Given the description of an element on the screen output the (x, y) to click on. 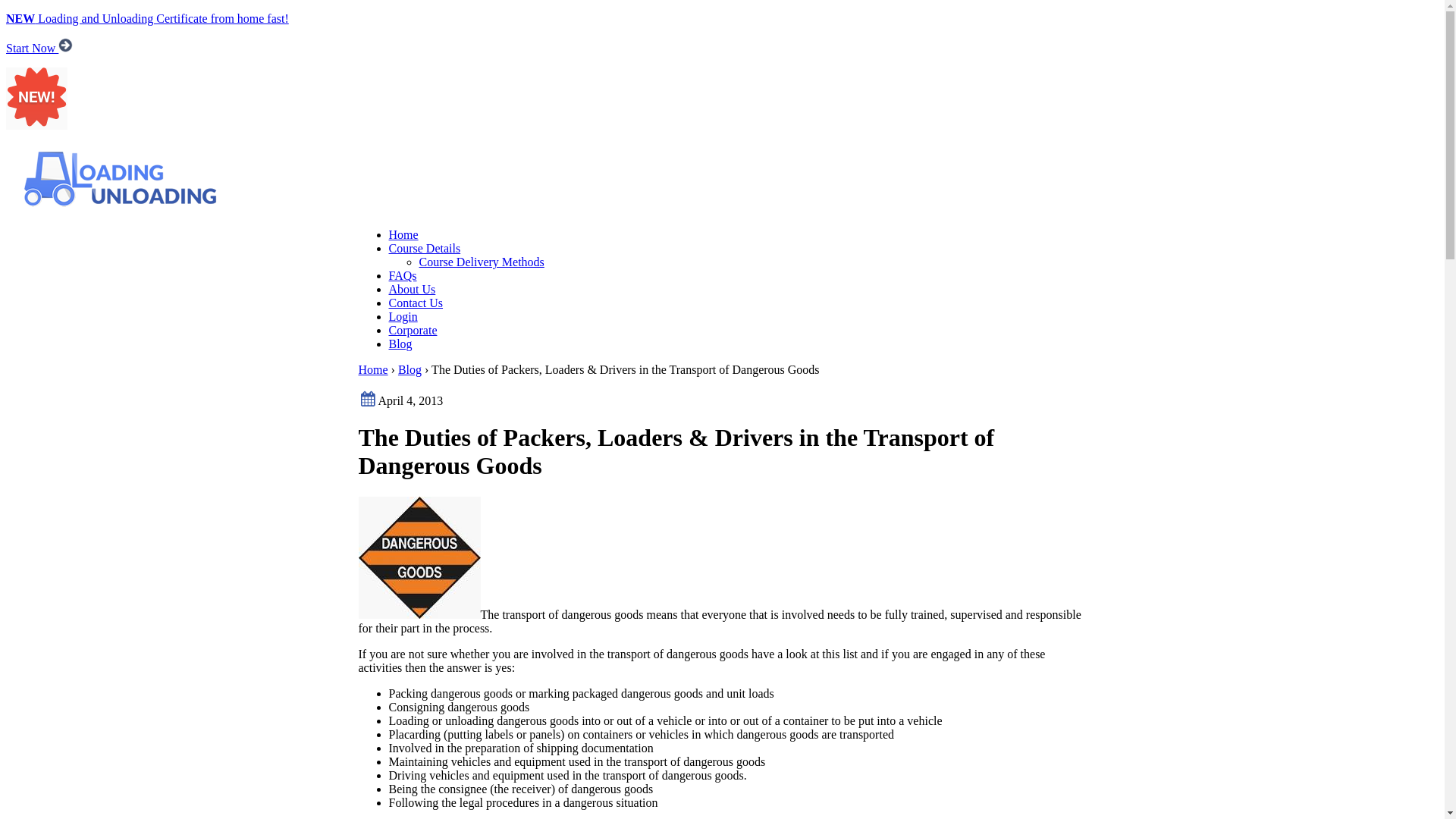
Login Element type: text (402, 316)
Blog Element type: text (399, 343)
Course Details Element type: text (424, 247)
Blog Element type: text (409, 369)
Corporate Element type: text (412, 329)
Home Element type: text (402, 234)
Course Delivery Methods Element type: text (480, 261)
Home Element type: text (372, 369)
About Us Element type: text (411, 288)
FAQs Element type: text (402, 275)
Contact Us Element type: text (415, 302)
